Given the description of an element on the screen output the (x, y) to click on. 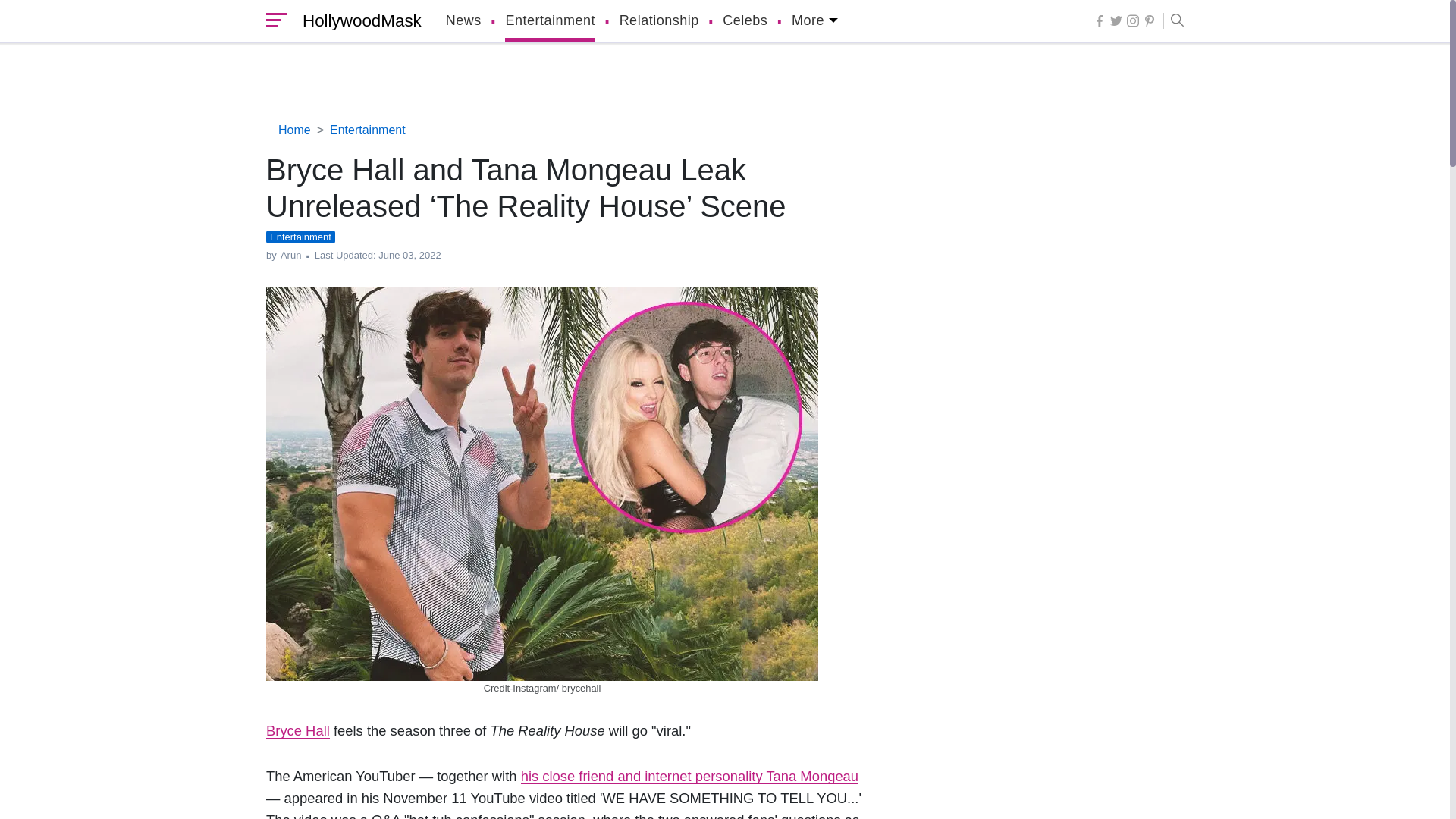
More (815, 20)
HollywoodMask (358, 21)
Relationship (659, 20)
HollywoodMask (358, 21)
Follow Us On twitter (1115, 20)
Entertainment (550, 20)
Celebs (744, 20)
Search (1173, 20)
more (815, 20)
Celebs (744, 20)
Entertainment (550, 20)
Follow Us On instagram (1132, 20)
Relationship (659, 20)
